Given the description of an element on the screen output the (x, y) to click on. 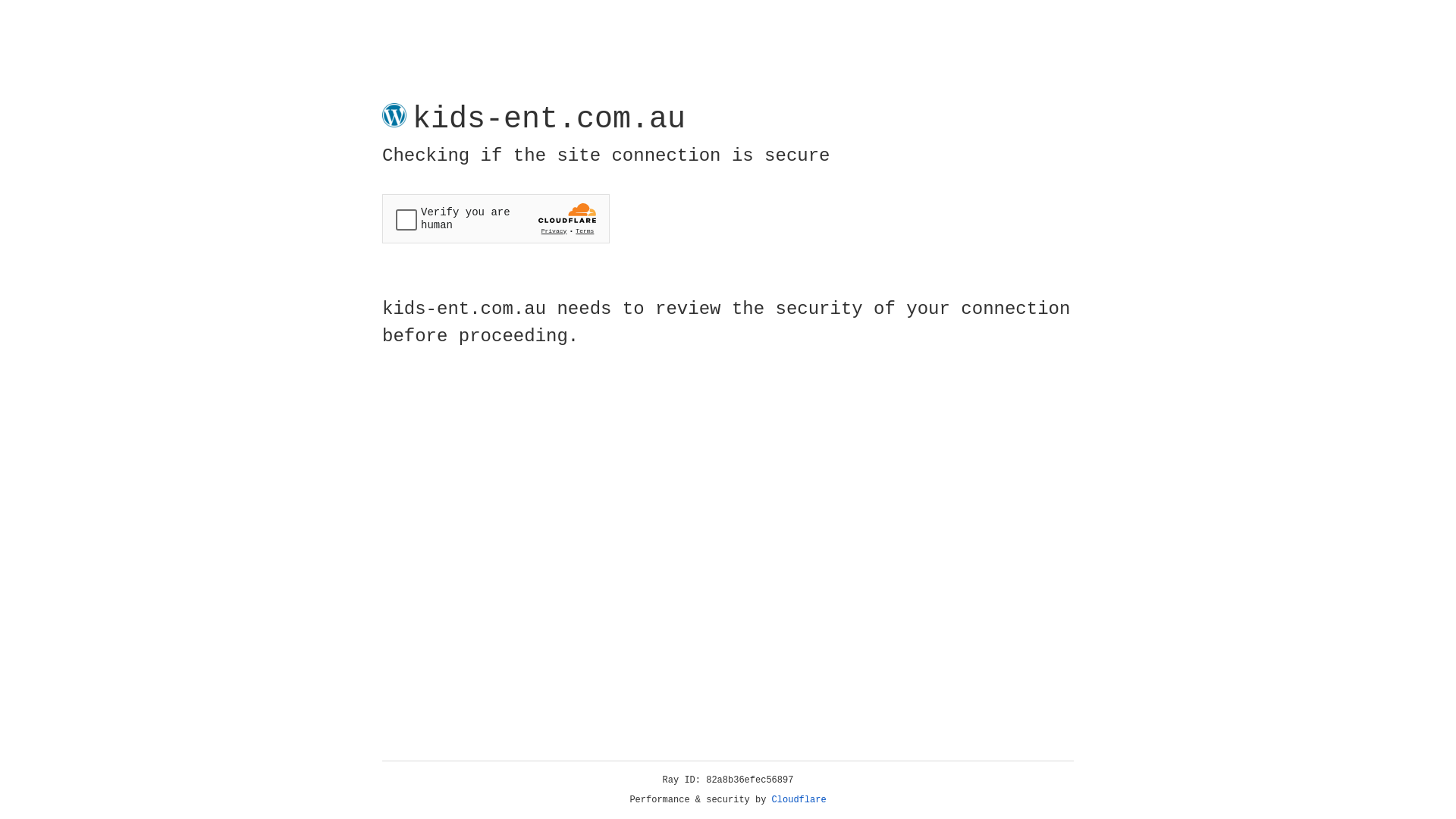
Widget containing a Cloudflare security challenge Element type: hover (495, 218)
Cloudflare Element type: text (798, 799)
